Given the description of an element on the screen output the (x, y) to click on. 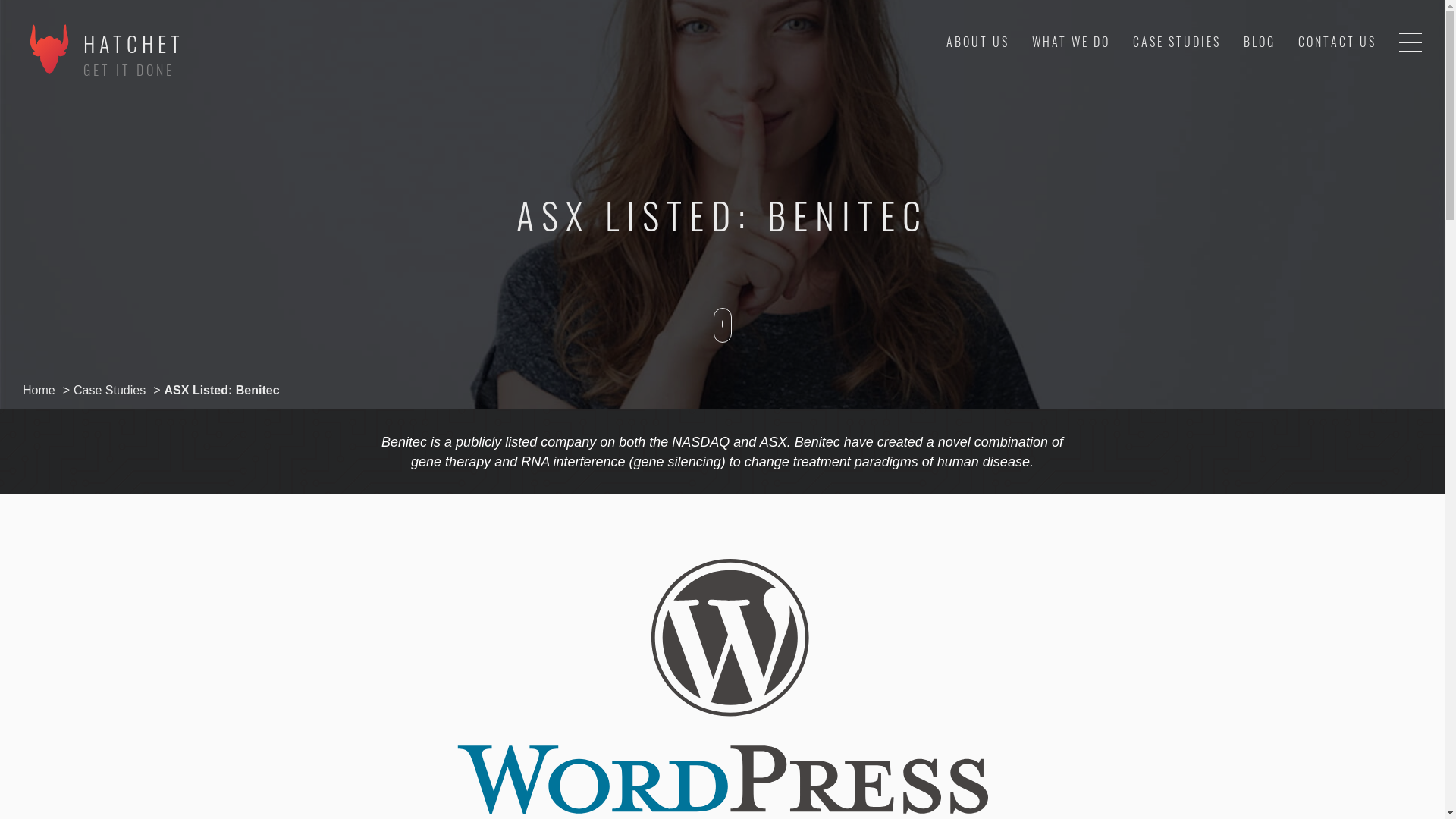
APP DEVELOPMENT Element type: text (1048, 79)
DATABASE DEVELOPMENT Element type: text (1029, 79)
WHAT WE DO Element type: text (1071, 41)
CUSTOM SOFTWARE Element type: text (1046, 79)
Case Studies Element type: text (109, 389)
WEBSITE DESIGN Element type: text (1055, 79)
Home Element type: text (38, 389)
CONTACT US Element type: text (1337, 41)
ABOUT US Element type: text (977, 41)
CASE STUDIES Element type: text (1176, 41)
HATCHET
GET IT DONE Element type: text (103, 70)
BLOG Element type: text (1259, 41)
WEBSITE HOSTING Element type: text (1050, 79)
